Given the description of an element on the screen output the (x, y) to click on. 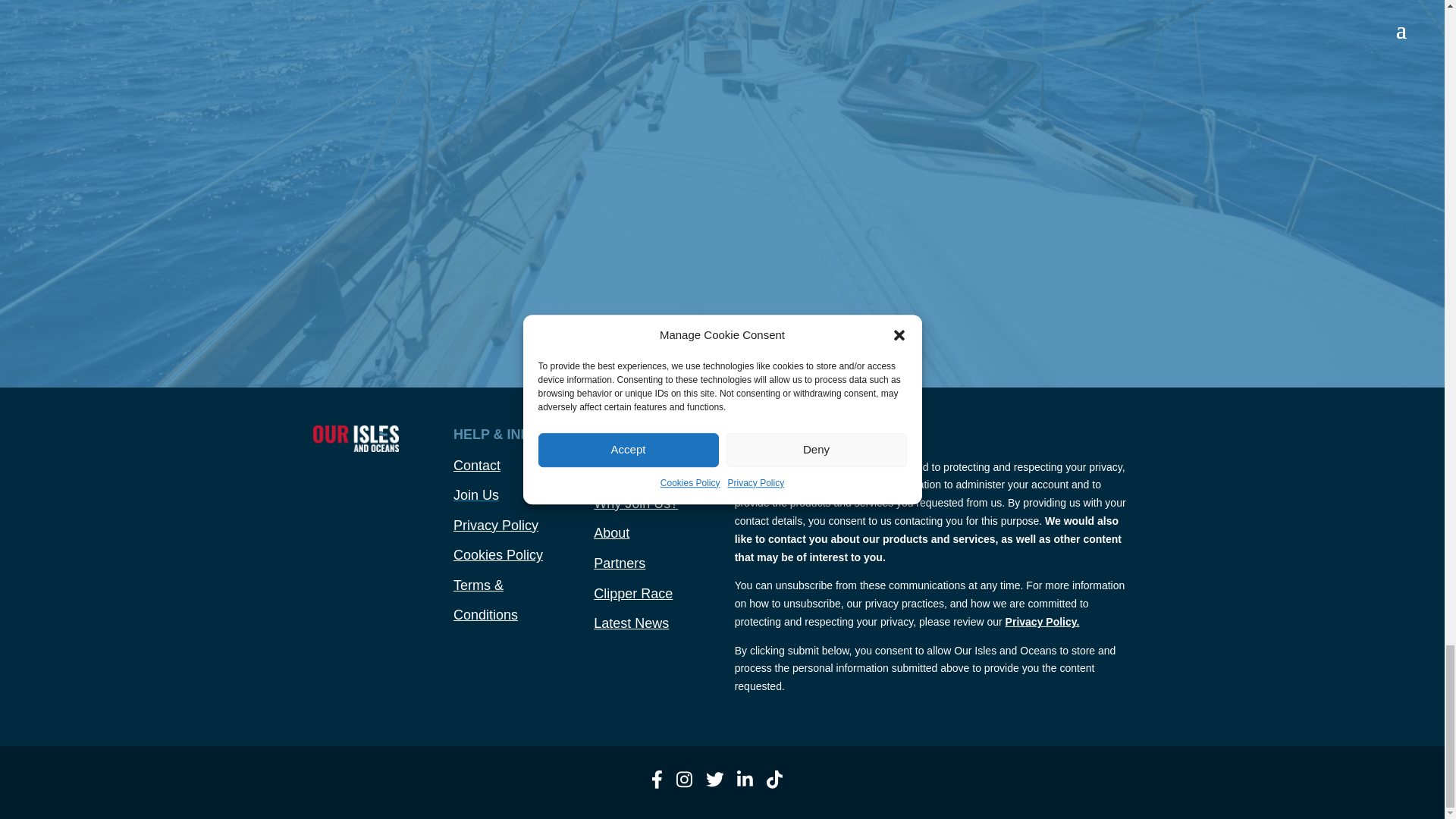
Follow us on TikTok (775, 784)
Join Us (475, 494)
Clipper Race (633, 593)
Partners (619, 563)
Follow us on Instagram (685, 784)
Contact (476, 465)
Latest News (631, 622)
Follow us on Twitter (714, 784)
Privacy Policy. (1043, 621)
Follow us on Facebook (656, 784)
Privacy Policy (495, 525)
Cookies Policy (497, 554)
Why Join Us? (636, 503)
Follow us on LinkedIn (744, 784)
About (611, 532)
